Given the description of an element on the screen output the (x, y) to click on. 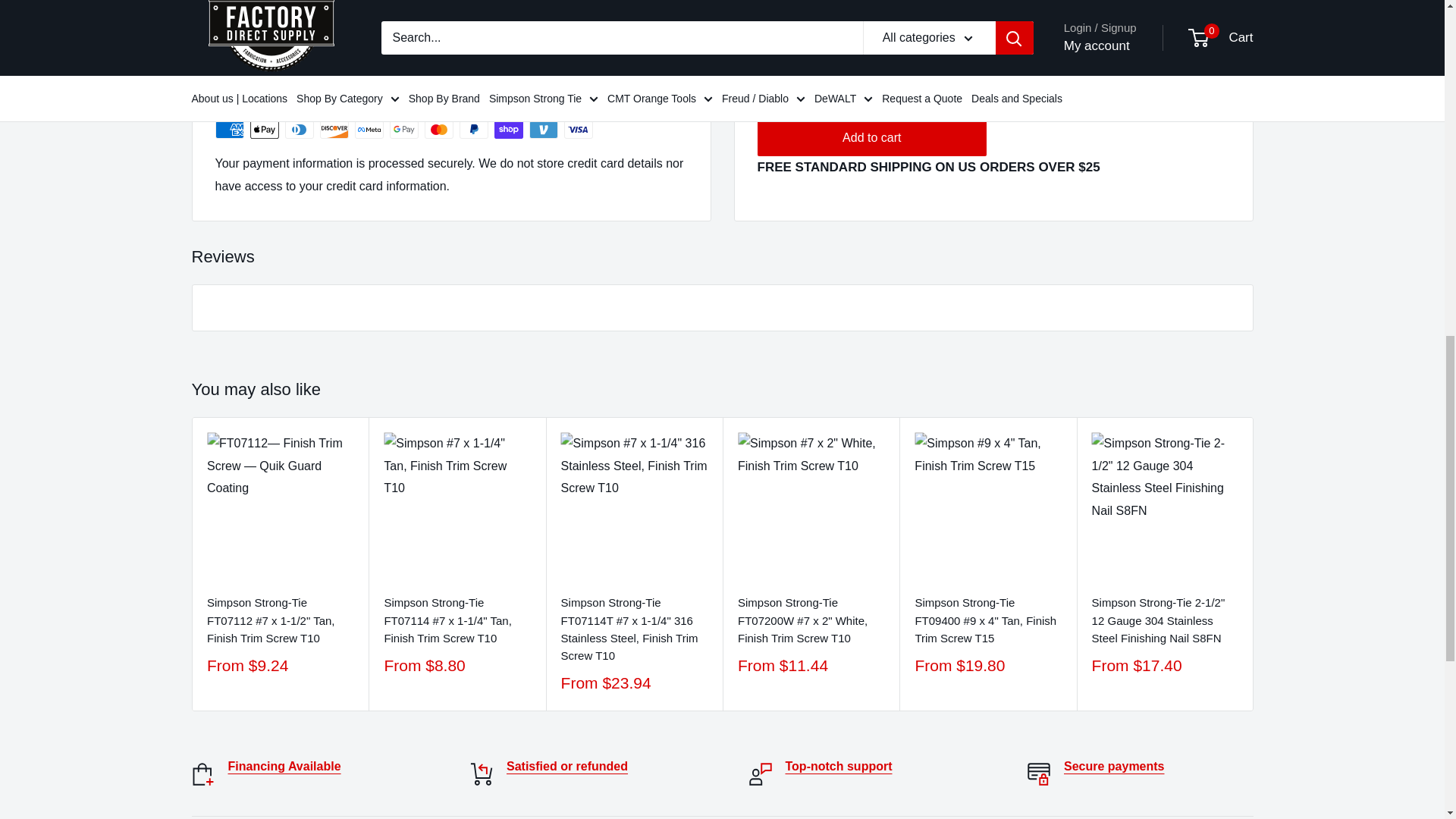
Refund Policy (566, 766)
Terms of Service (1114, 766)
Financing Options (283, 766)
Contact Us (839, 766)
